Given the description of an element on the screen output the (x, y) to click on. 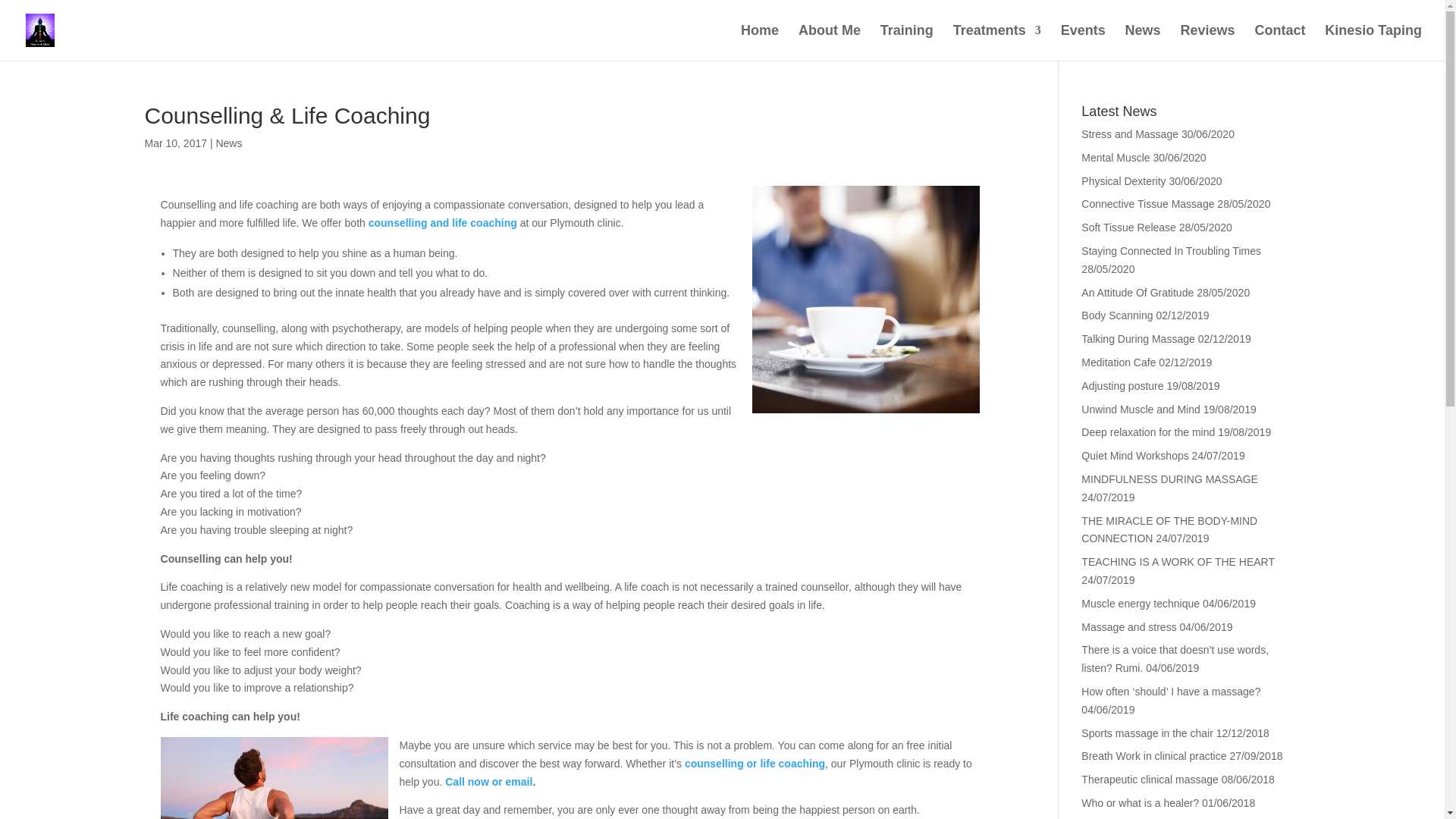
Events (1083, 42)
Home (759, 42)
About Me (828, 42)
counselling or life coaching (754, 763)
Body Scanning (1117, 315)
Physical Dexterity (1123, 181)
An Attitude Of Gratitude (1137, 292)
counselling and life coaching (442, 223)
Connective Tissue Massage (1147, 203)
News (1142, 42)
Reviews (1206, 42)
Staying Connected In Troubling Times (1170, 250)
Training (906, 42)
Meditation Cafe (1118, 362)
Soft Tissue Release (1128, 227)
